Given the description of an element on the screen output the (x, y) to click on. 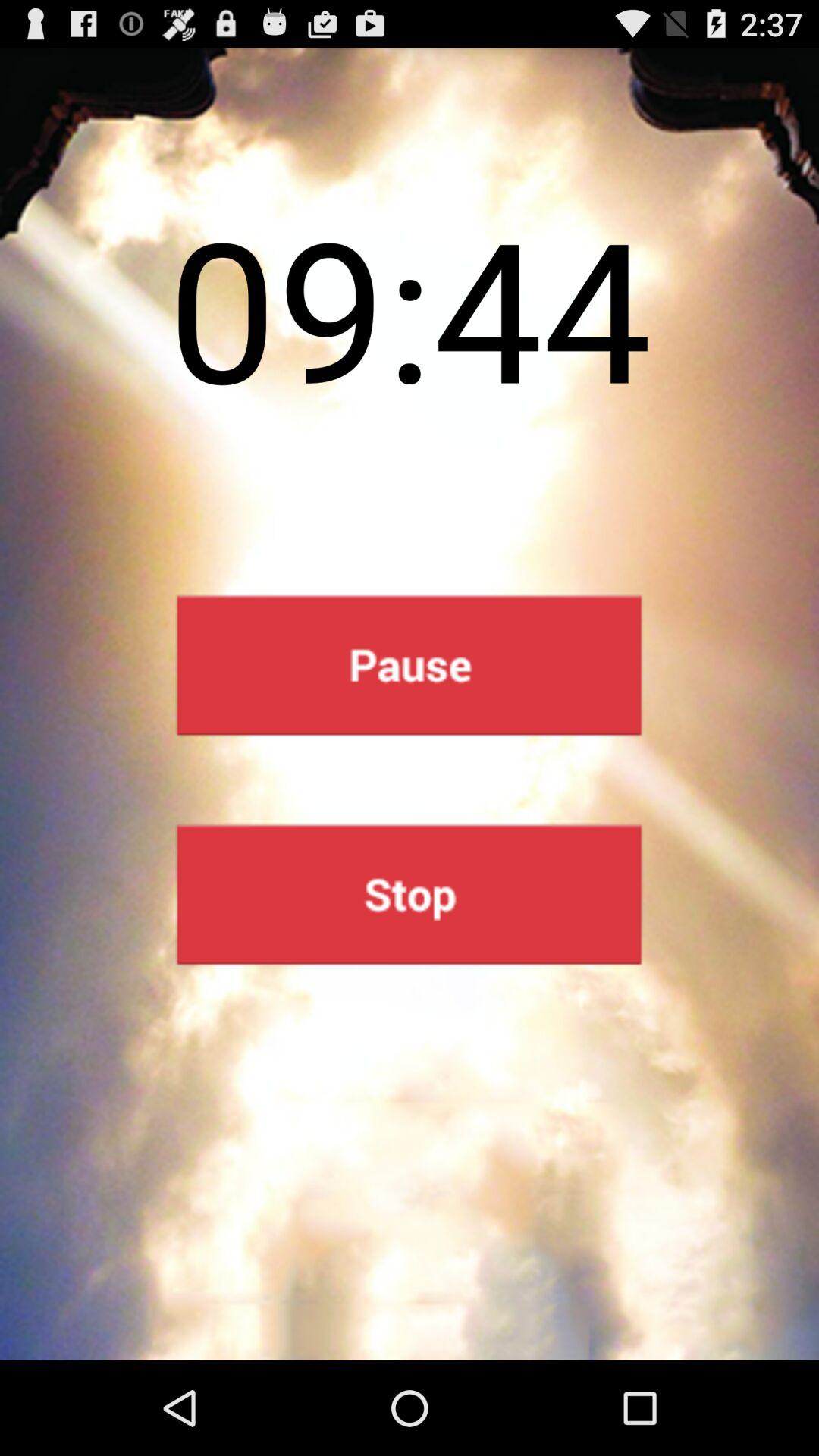
go to stop (409, 894)
